Given the description of an element on the screen output the (x, y) to click on. 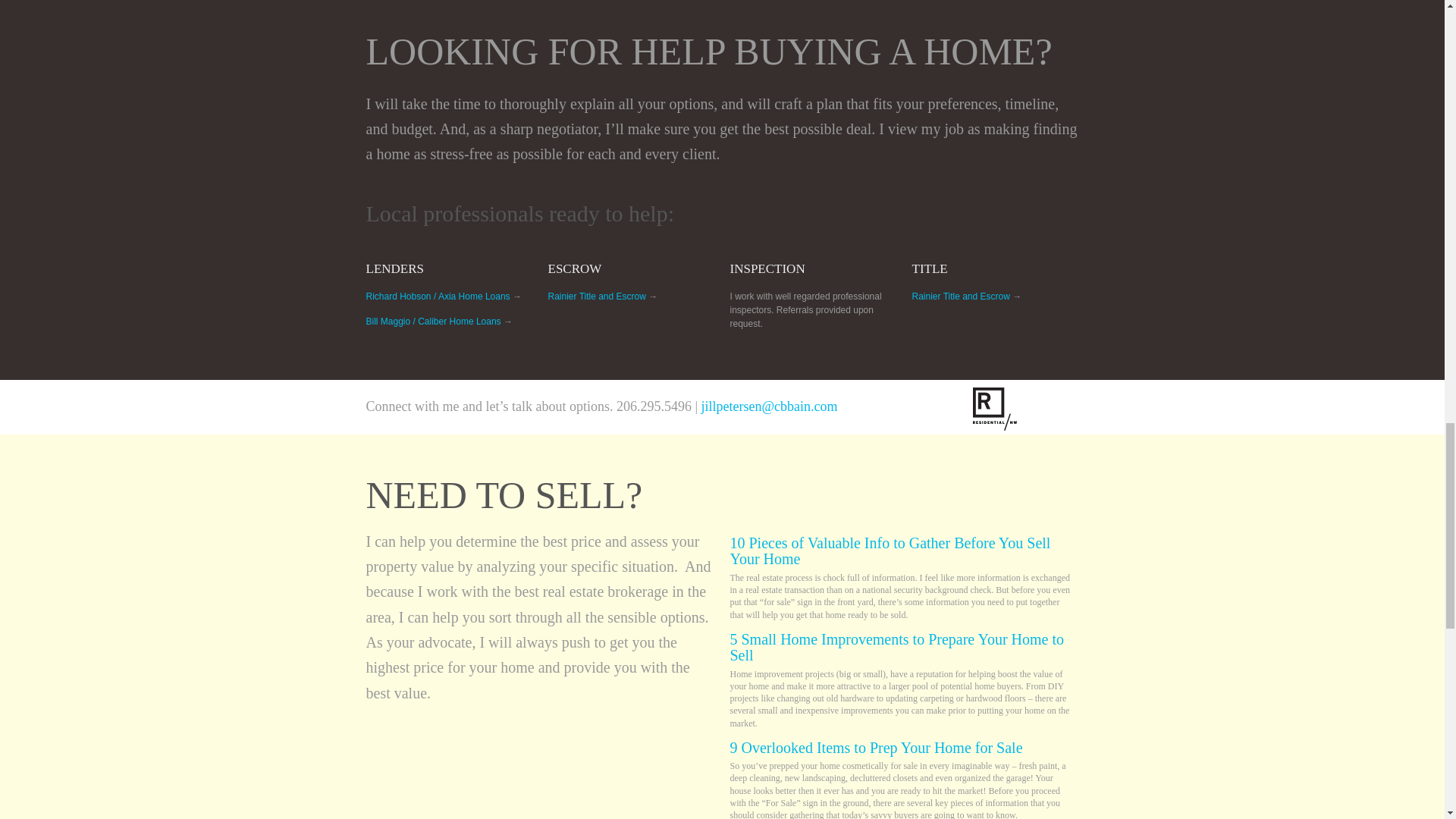
9 Overlooked Items to Prep Your Home for Sale (875, 747)
Rainier Title and Escrow (596, 296)
5 Small Home Improvements to Prepare Your Home to Sell (896, 647)
Rainier Title and Escrow (960, 296)
